Given the description of an element on the screen output the (x, y) to click on. 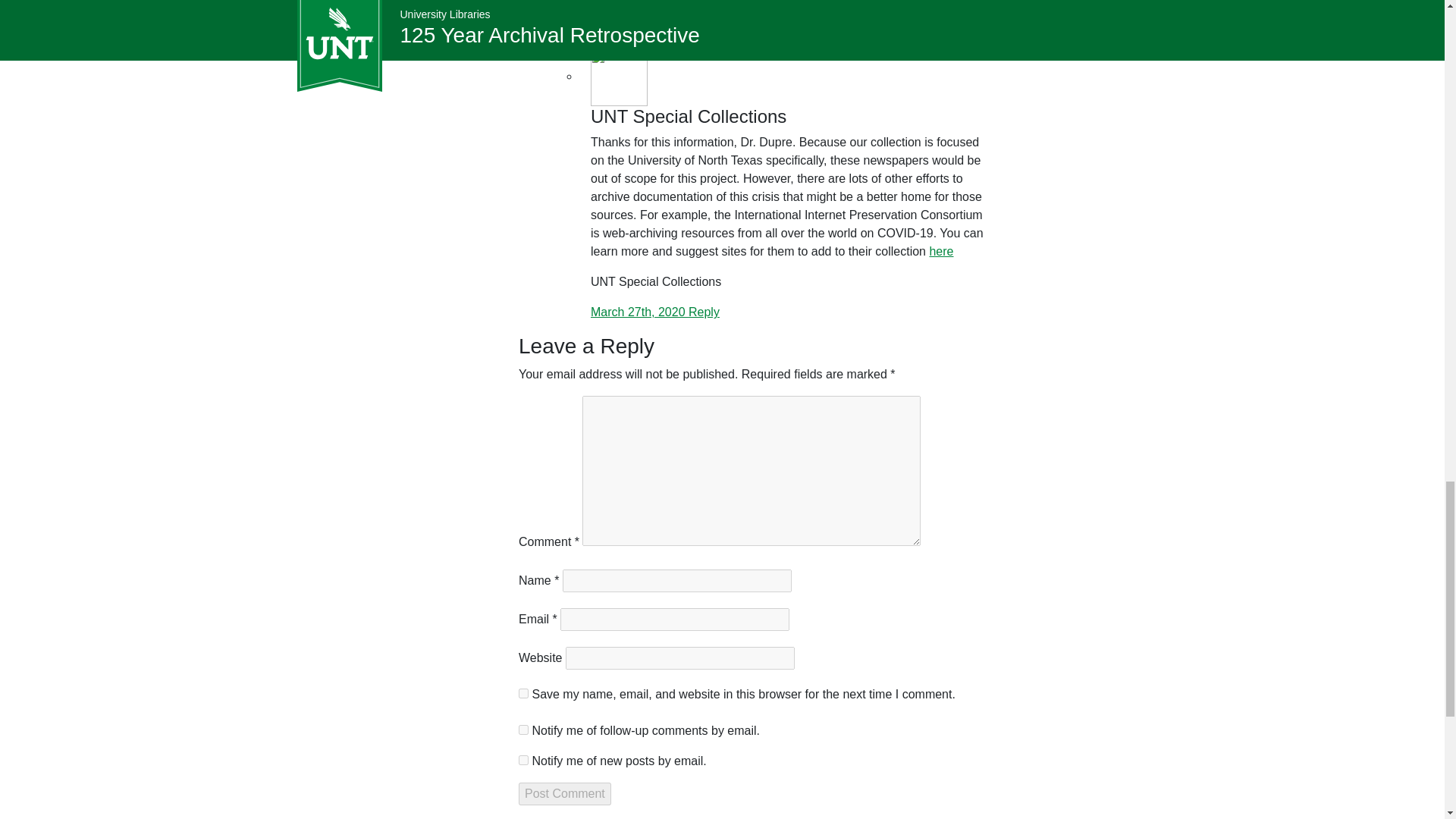
Reply (703, 311)
Post Comment (564, 793)
here (940, 250)
subscribe (523, 729)
subscribe (523, 759)
March 26th, 2020 (609, 39)
March 27th, 2020 (639, 311)
Post Comment (564, 793)
yes (523, 693)
Reply (673, 39)
